Given the description of an element on the screen output the (x, y) to click on. 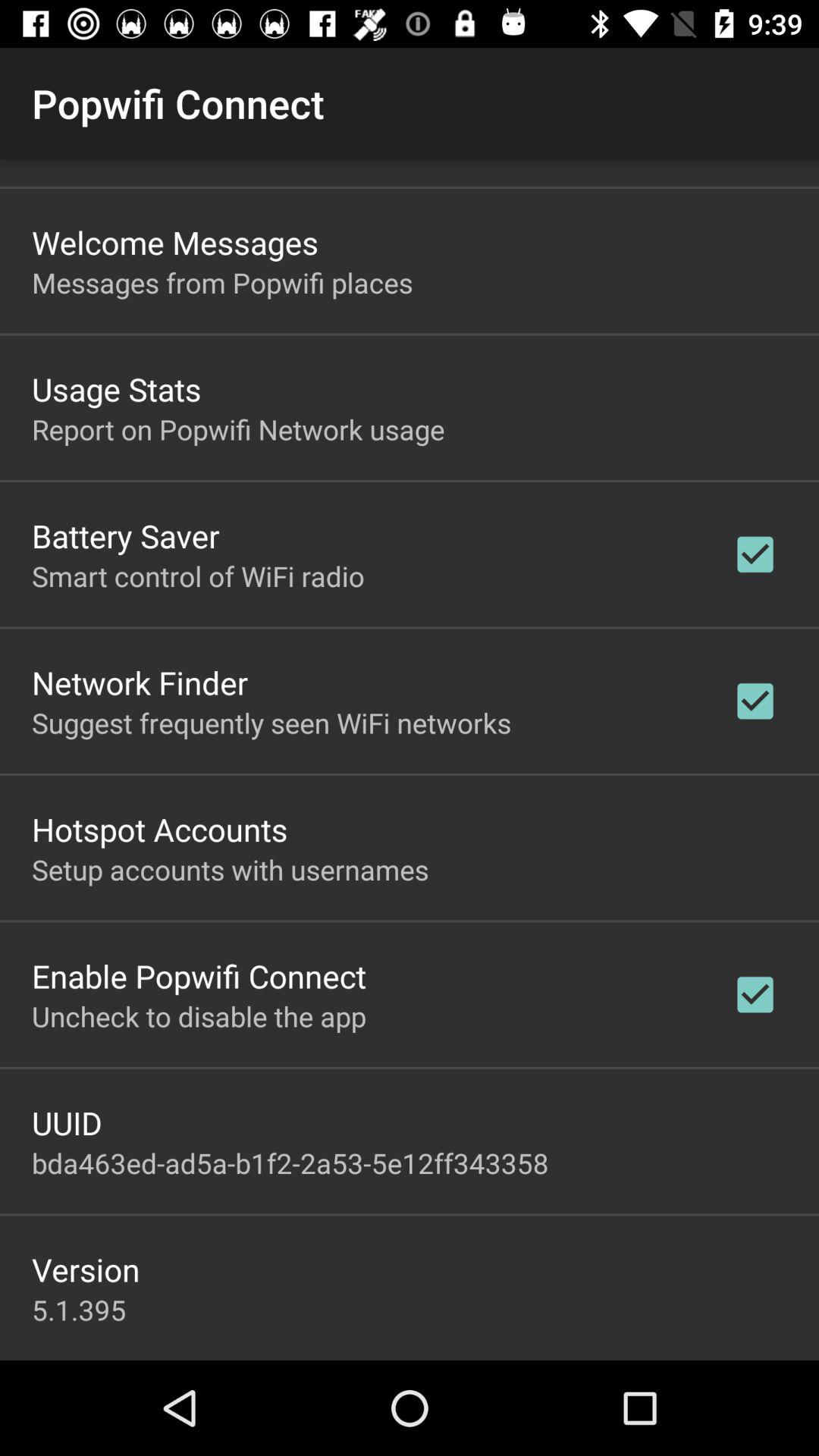
jump until the report on popwifi app (237, 429)
